Given the description of an element on the screen output the (x, y) to click on. 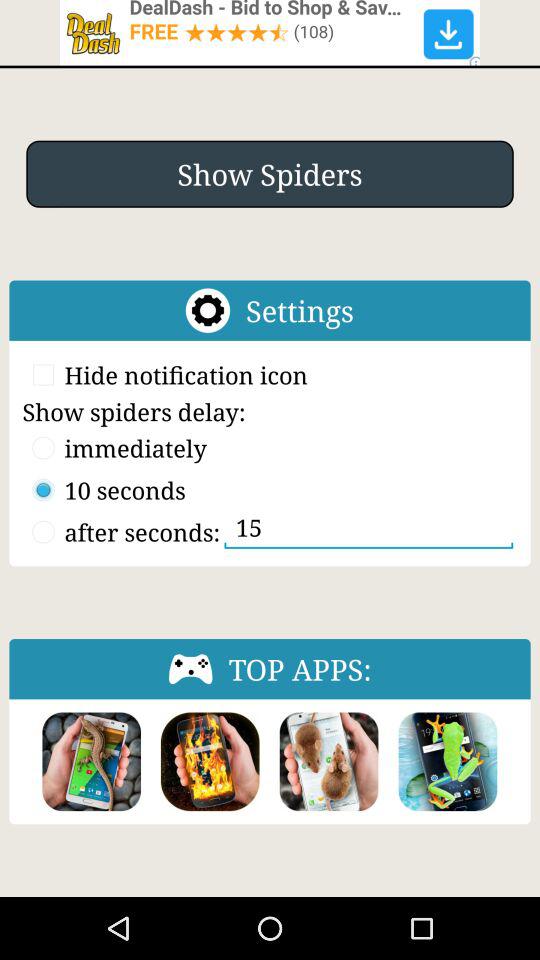
game option (91, 761)
